Given the description of an element on the screen output the (x, y) to click on. 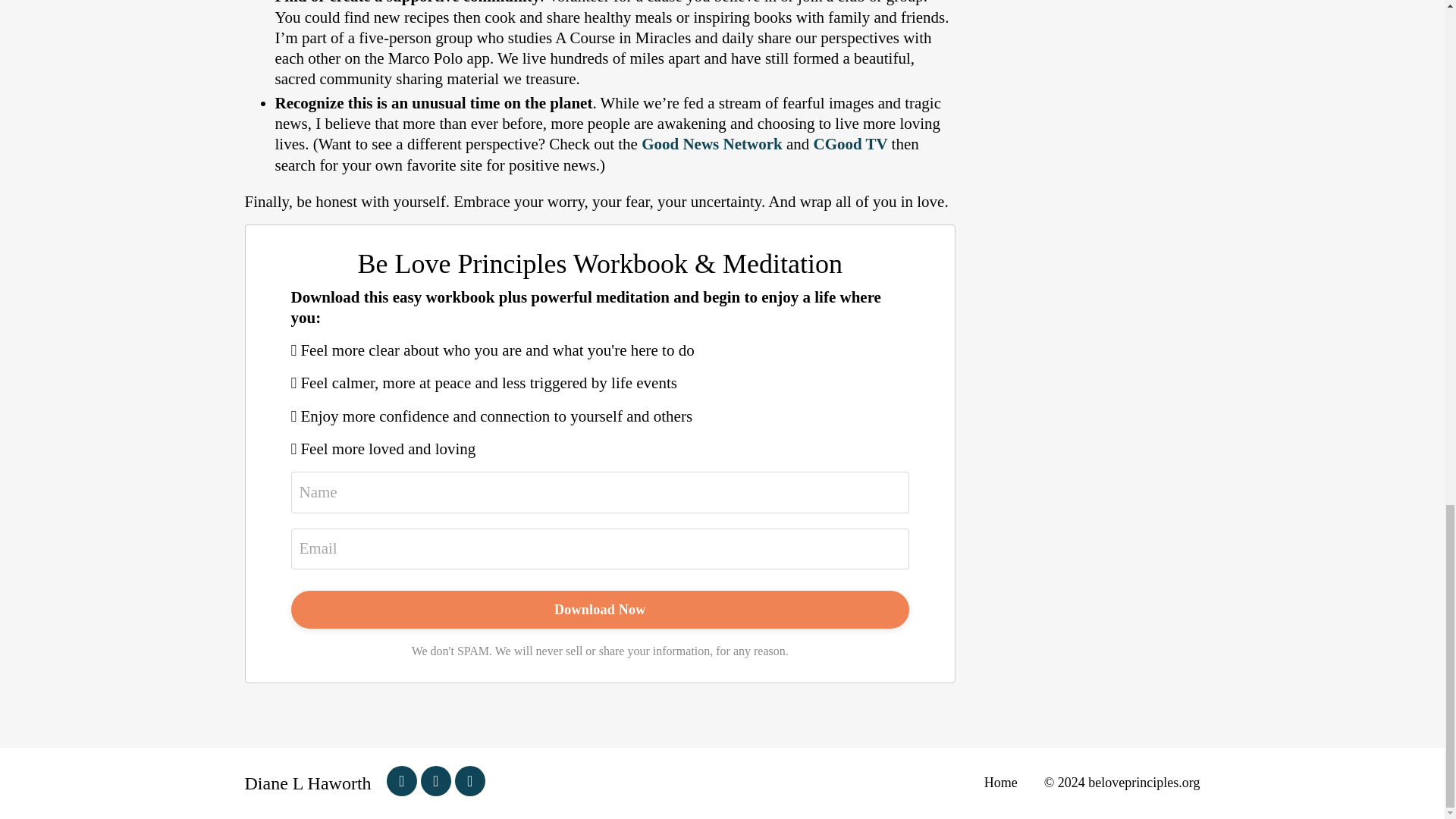
Home (764, 782)
Download Now (600, 609)
Download Now (600, 609)
Diane L Haworth (307, 782)
Good News Network (711, 144)
CGood TV (849, 144)
